Given the description of an element on the screen output the (x, y) to click on. 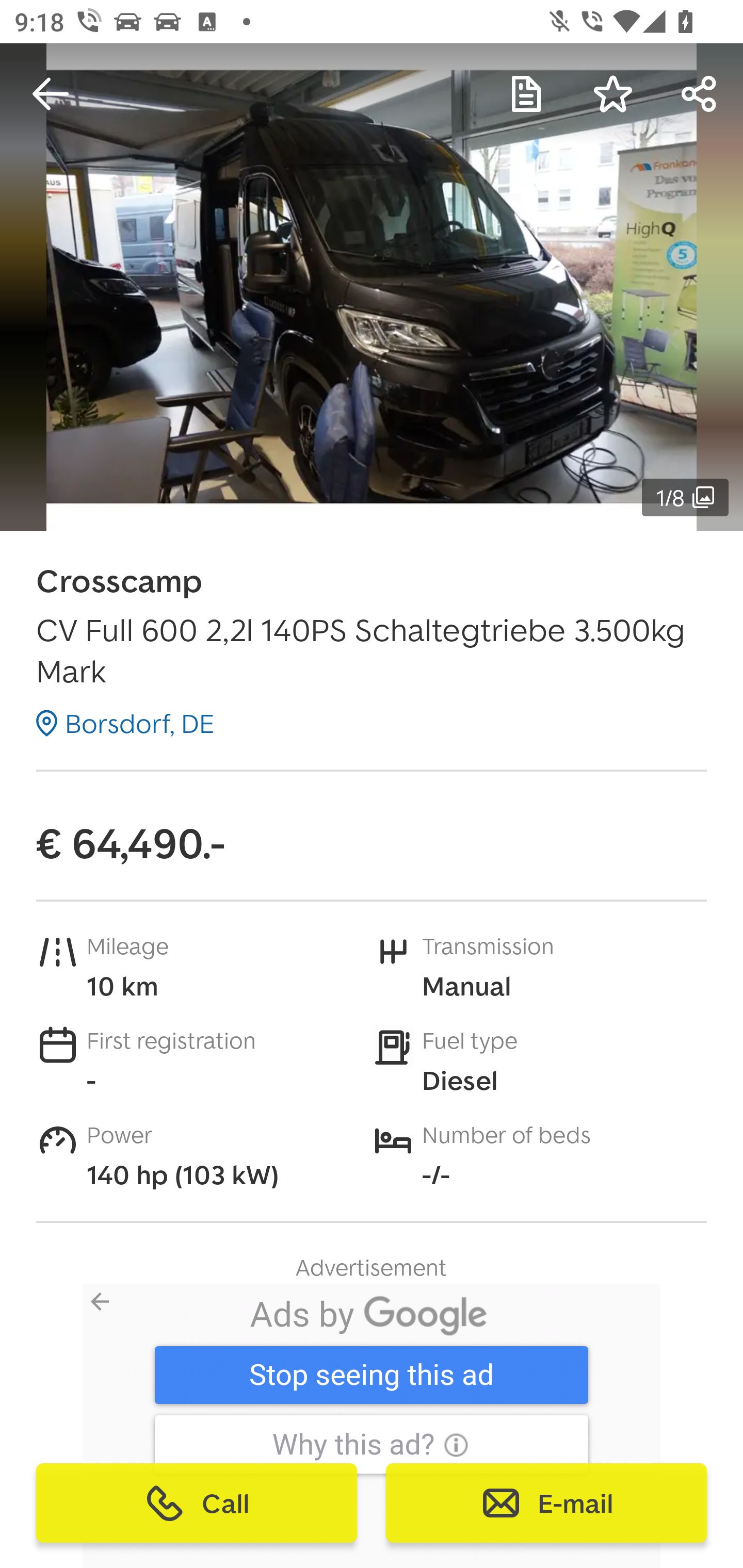
Navigate up (50, 93)
My Notes (525, 93)
Save (612, 93)
Forward (699, 93)
Borsdorf, DE (124, 722)
用貸款供車更free 免抵押免全 保 用貸款供車更free 免抵押免全 保 (366, 1382)
Call (196, 1502)
E-mail (545, 1502)
